Given the description of an element on the screen output the (x, y) to click on. 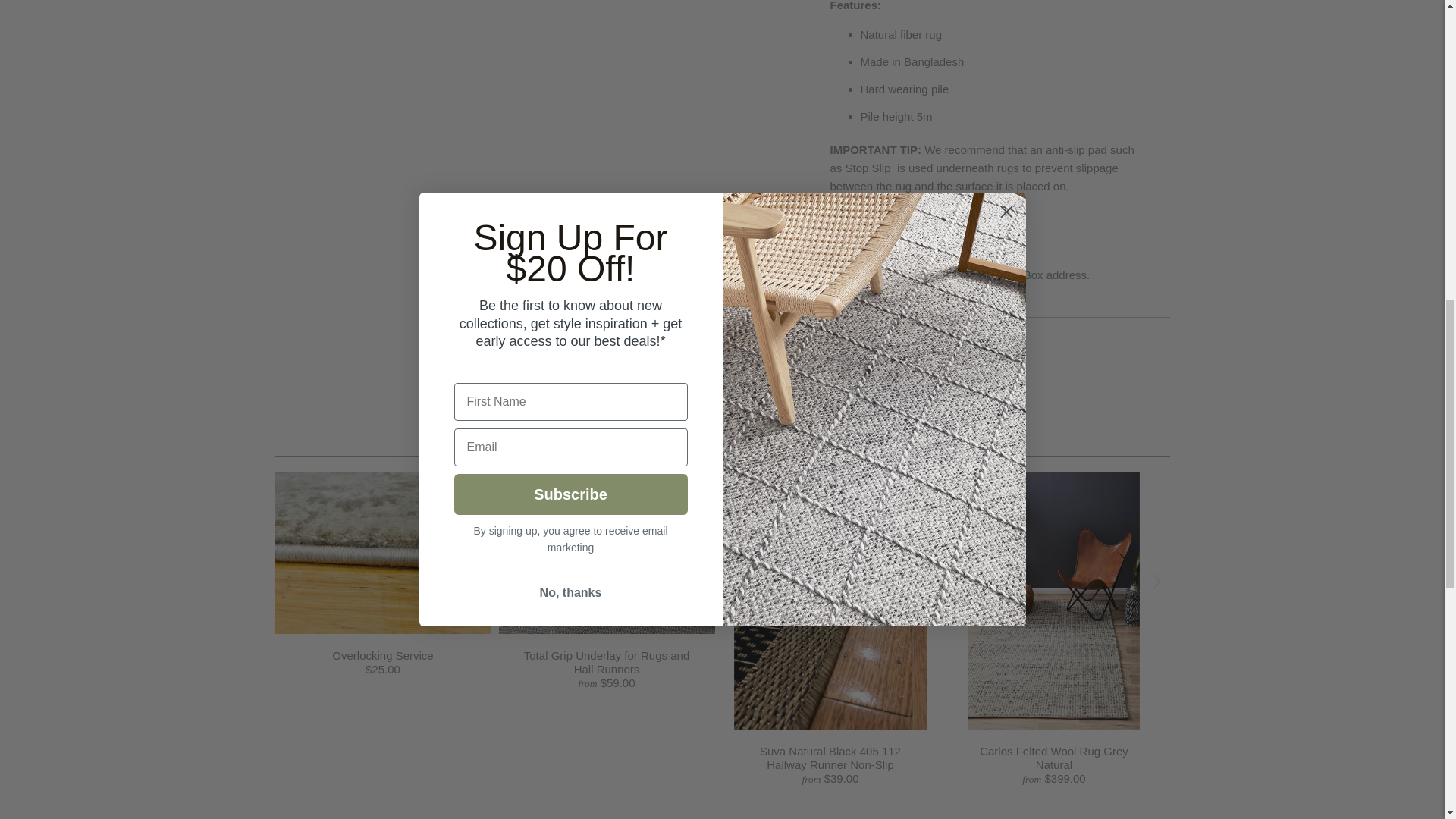
Share this on Facebook (876, 349)
Share this on Twitter (837, 349)
Email this to a friend (956, 349)
Share this on Pinterest (917, 349)
